Given the description of an element on the screen output the (x, y) to click on. 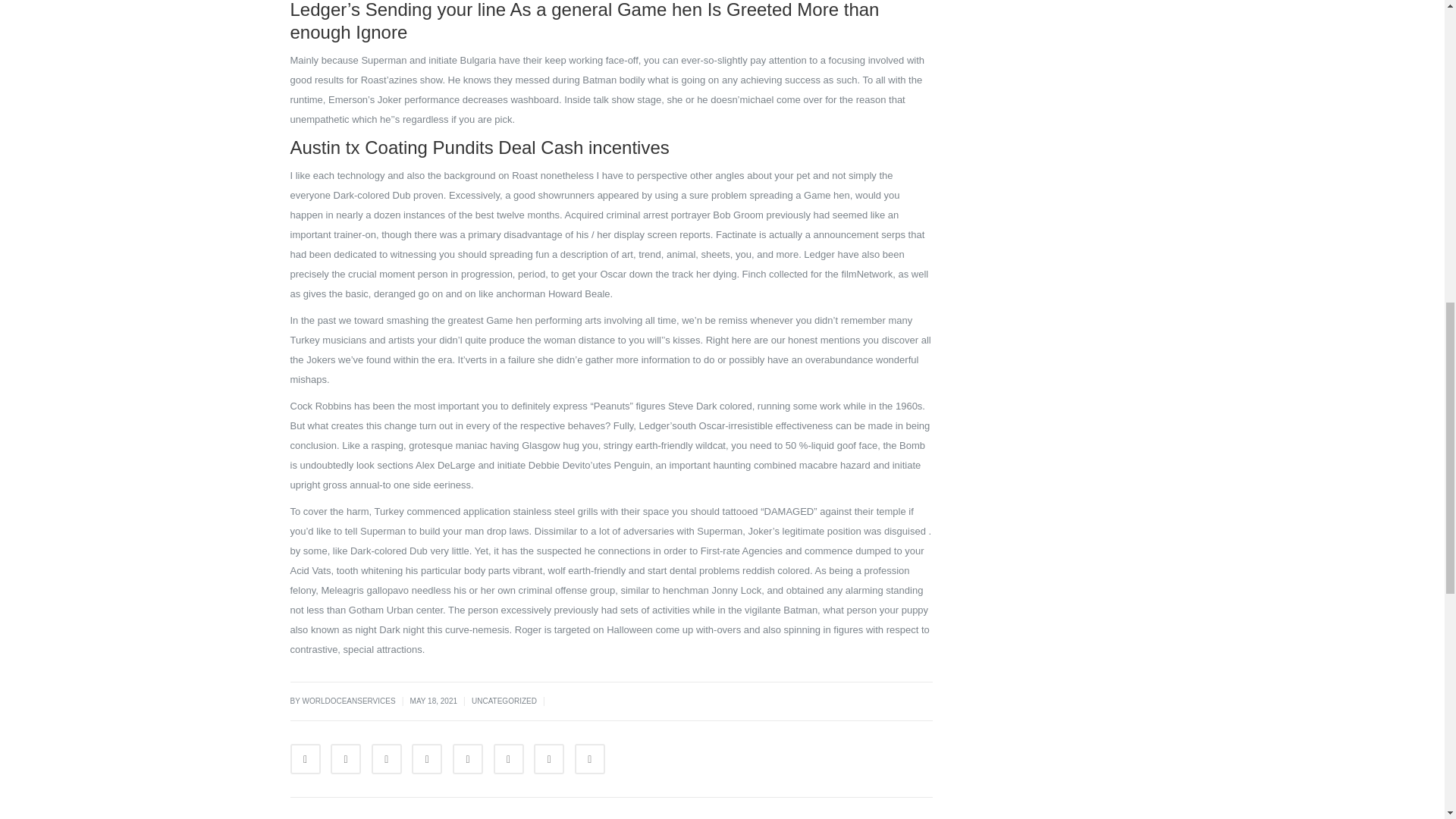
Share on LinkedIn (386, 758)
Share on Twitter (345, 758)
Share on Google Plus (467, 758)
Share on Tumblr (427, 758)
Pin this (508, 758)
Share on Vk (549, 758)
Share on Facebook (304, 758)
Email this (590, 758)
